Given the description of an element on the screen output the (x, y) to click on. 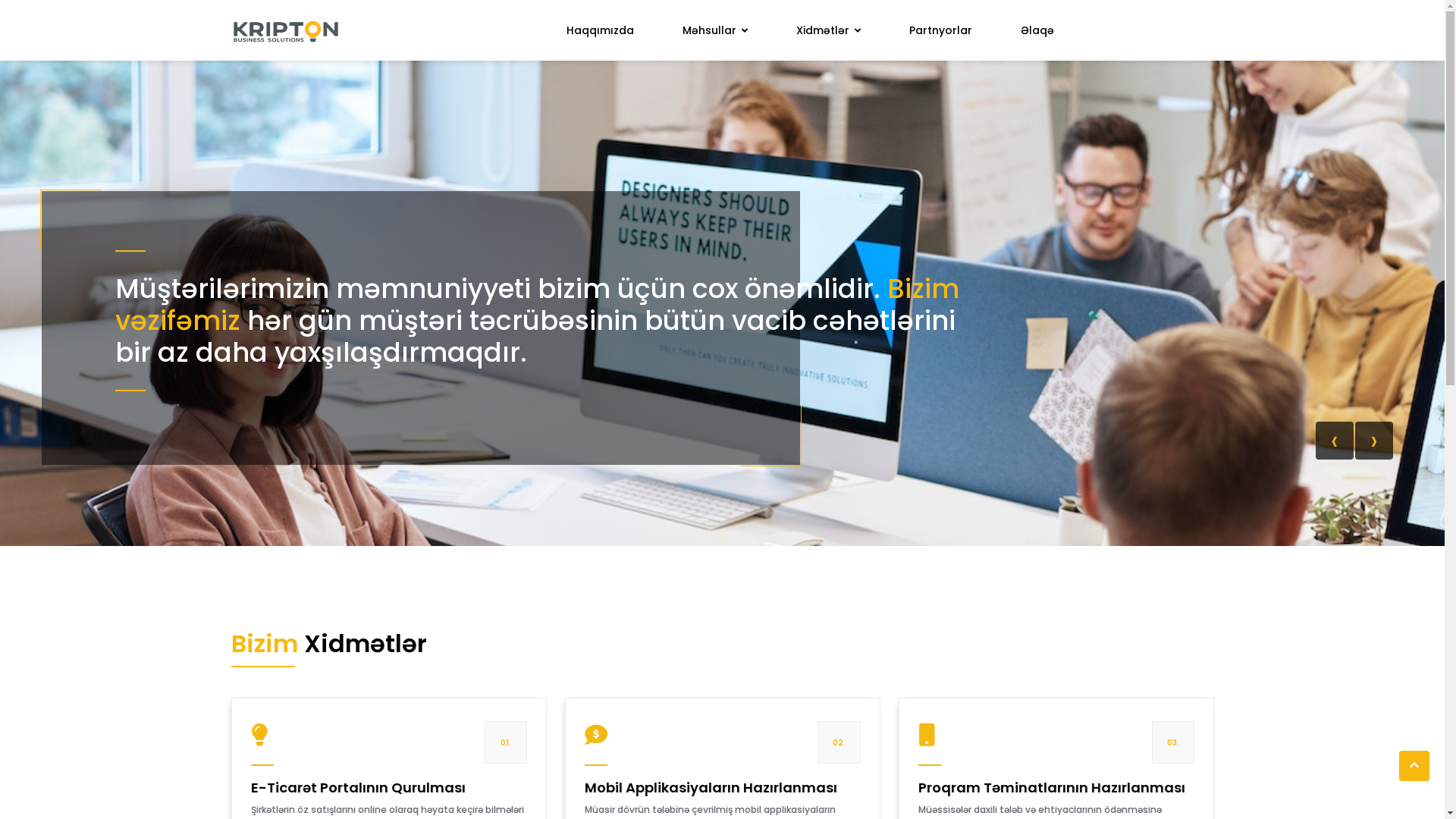
# Element type: hover (1414, 765)
Partnyorlar Element type: text (940, 30)
# Element type: hover (285, 30)
